Given the description of an element on the screen output the (x, y) to click on. 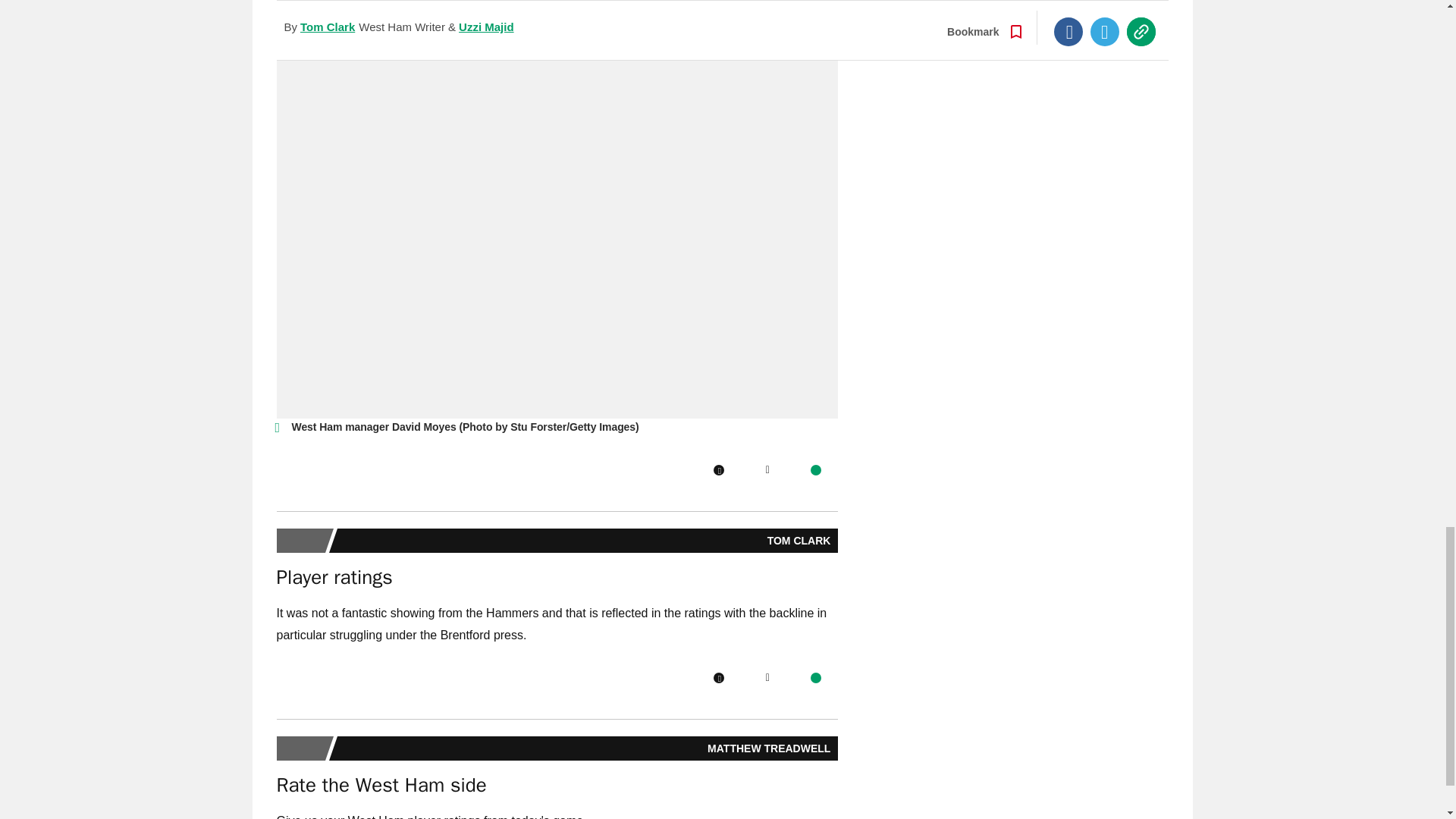
Facebook (718, 677)
Twitter (767, 470)
Facebook (718, 470)
Twitter (767, 677)
